Given the description of an element on the screen output the (x, y) to click on. 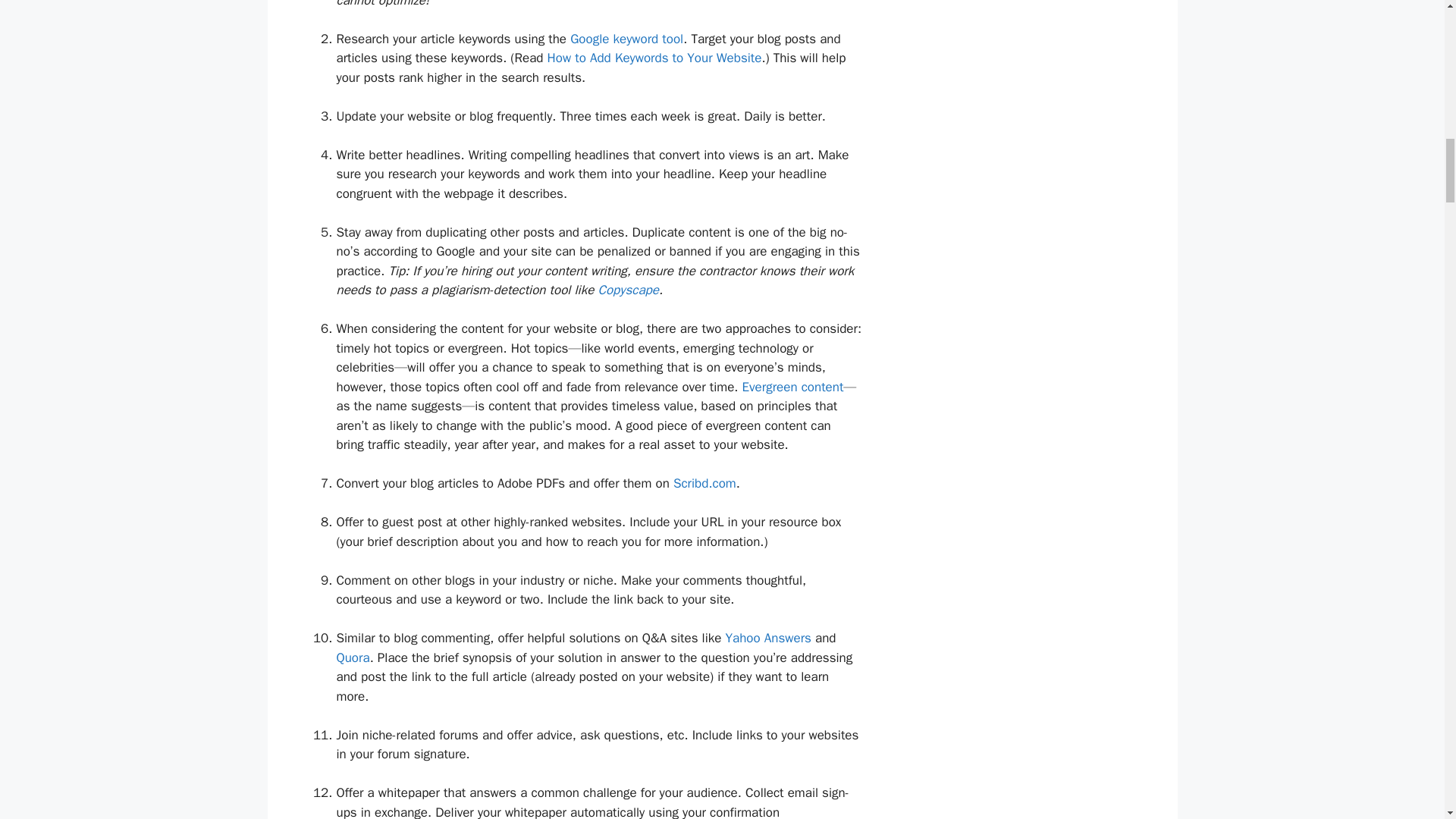
How to Add Keywords to Your Website (654, 57)
Copyscape (627, 289)
evergreen content (793, 386)
How To Work Keywords Into Your Website (654, 57)
Google keyword tool (626, 38)
Yahoo Answers (767, 637)
Evergreen content (793, 386)
Copyscape (627, 289)
Quora (352, 657)
Scribd.com (704, 483)
Yahoo Answers (767, 637)
Quora (352, 657)
Google keyword tool (626, 38)
Scribd (704, 483)
